Given the description of an element on the screen output the (x, y) to click on. 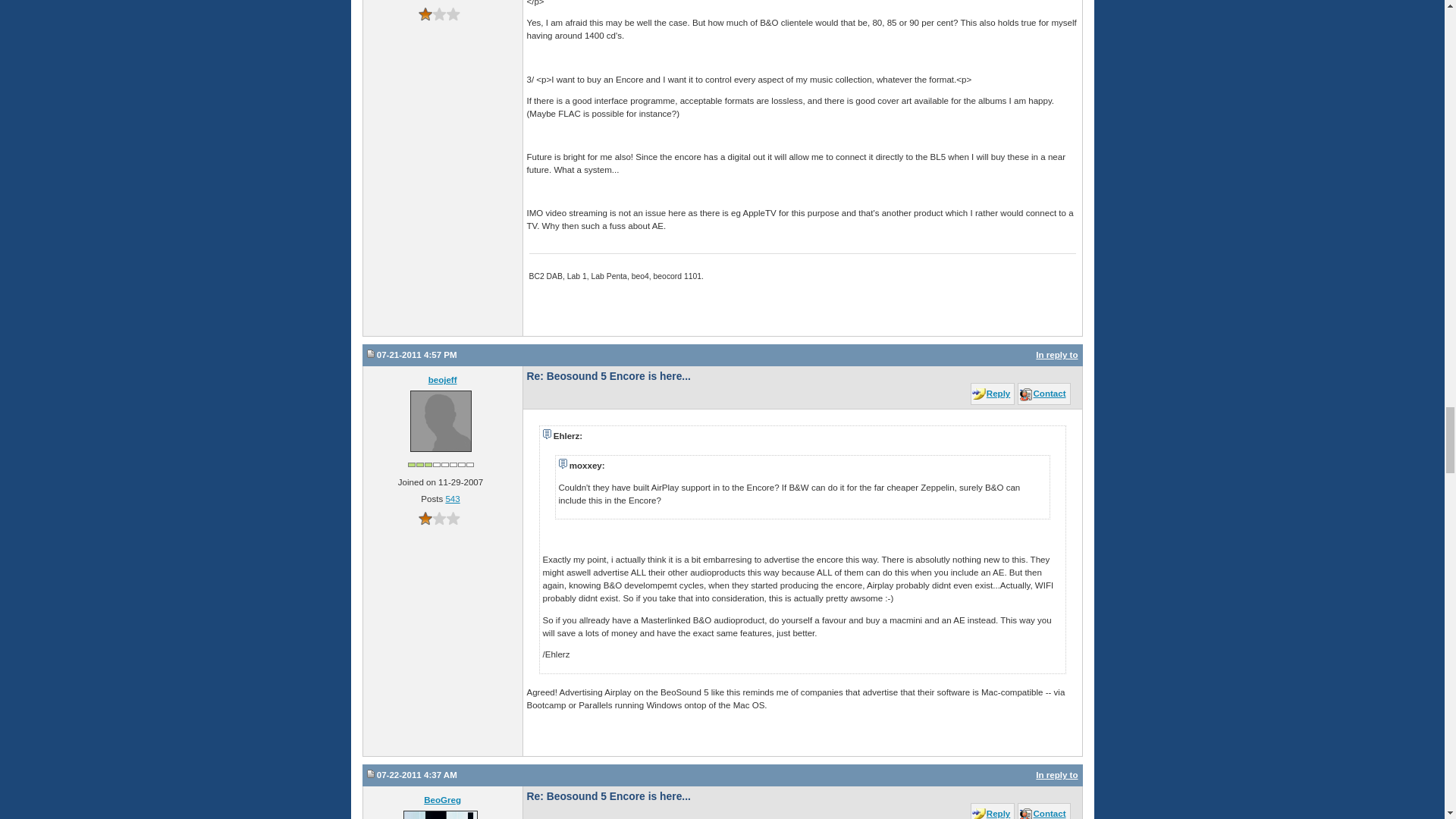
Top 150 Contributor (440, 464)
